Given the description of an element on the screen output the (x, y) to click on. 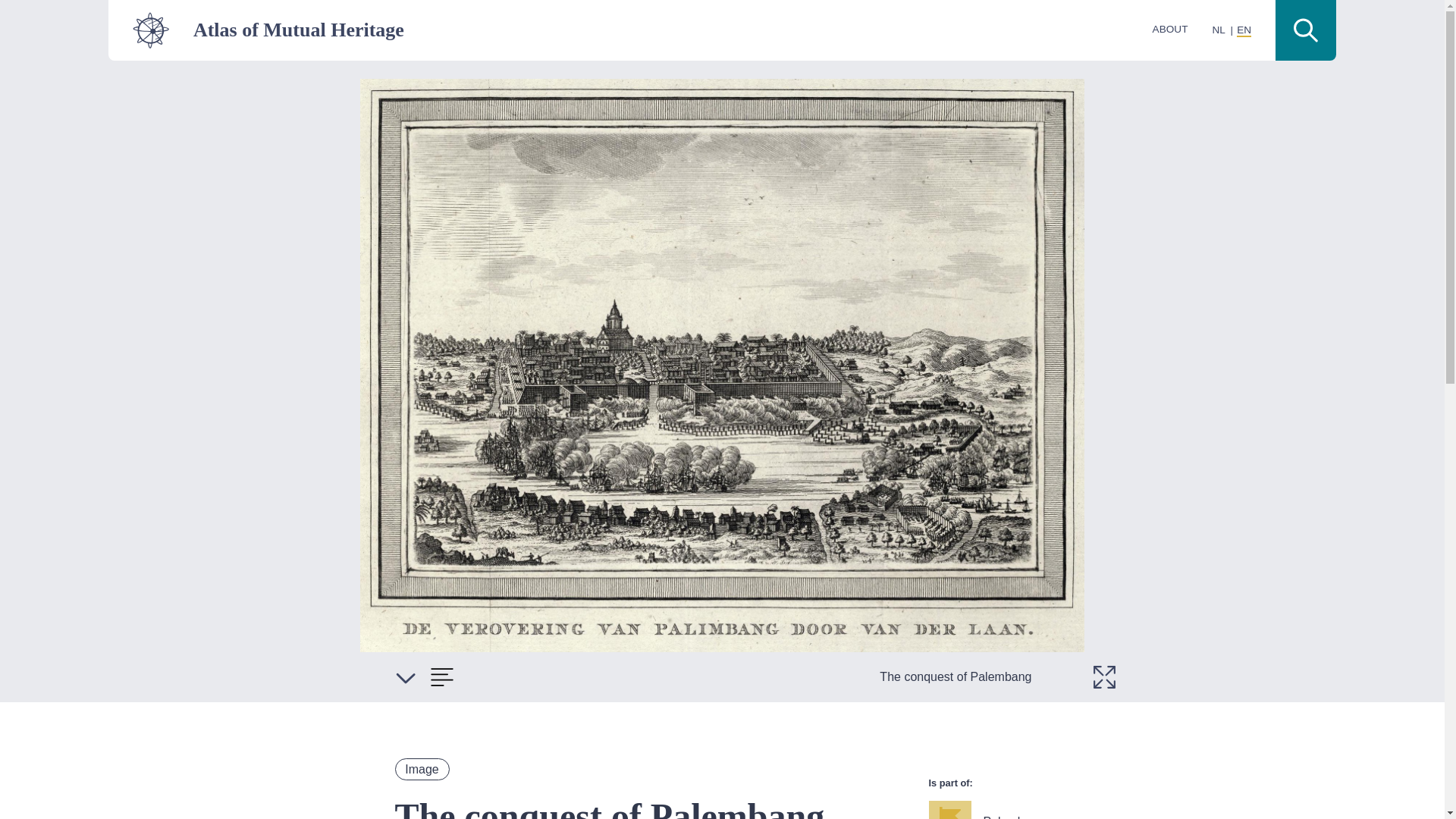
description (405, 677)
Palembang (1022, 809)
NL (1218, 30)
description (441, 677)
ABOUT (1170, 29)
EN (1243, 30)
